Given the description of an element on the screen output the (x, y) to click on. 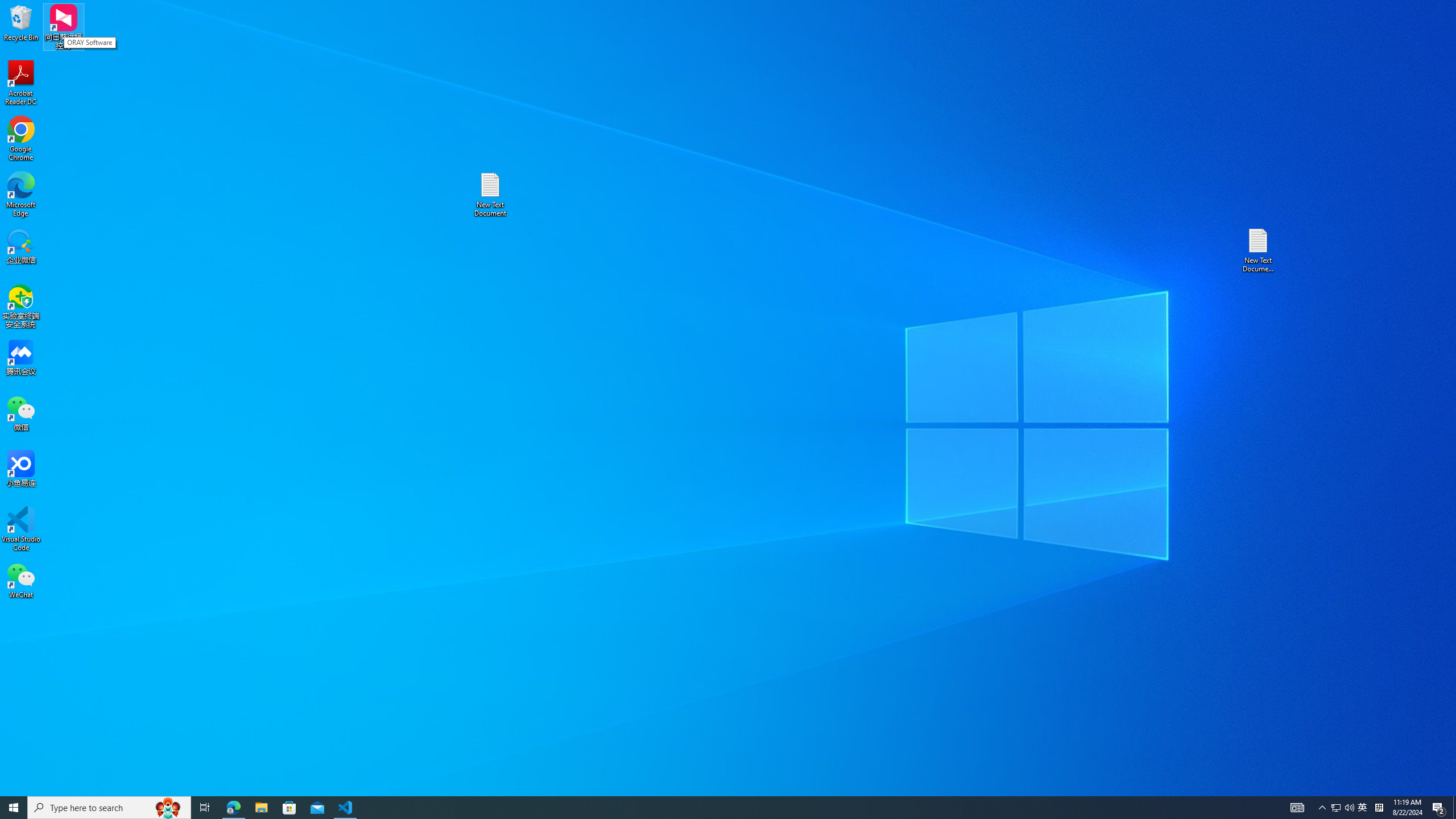
Microsoft Edge (21, 194)
